Given the description of an element on the screen output the (x, y) to click on. 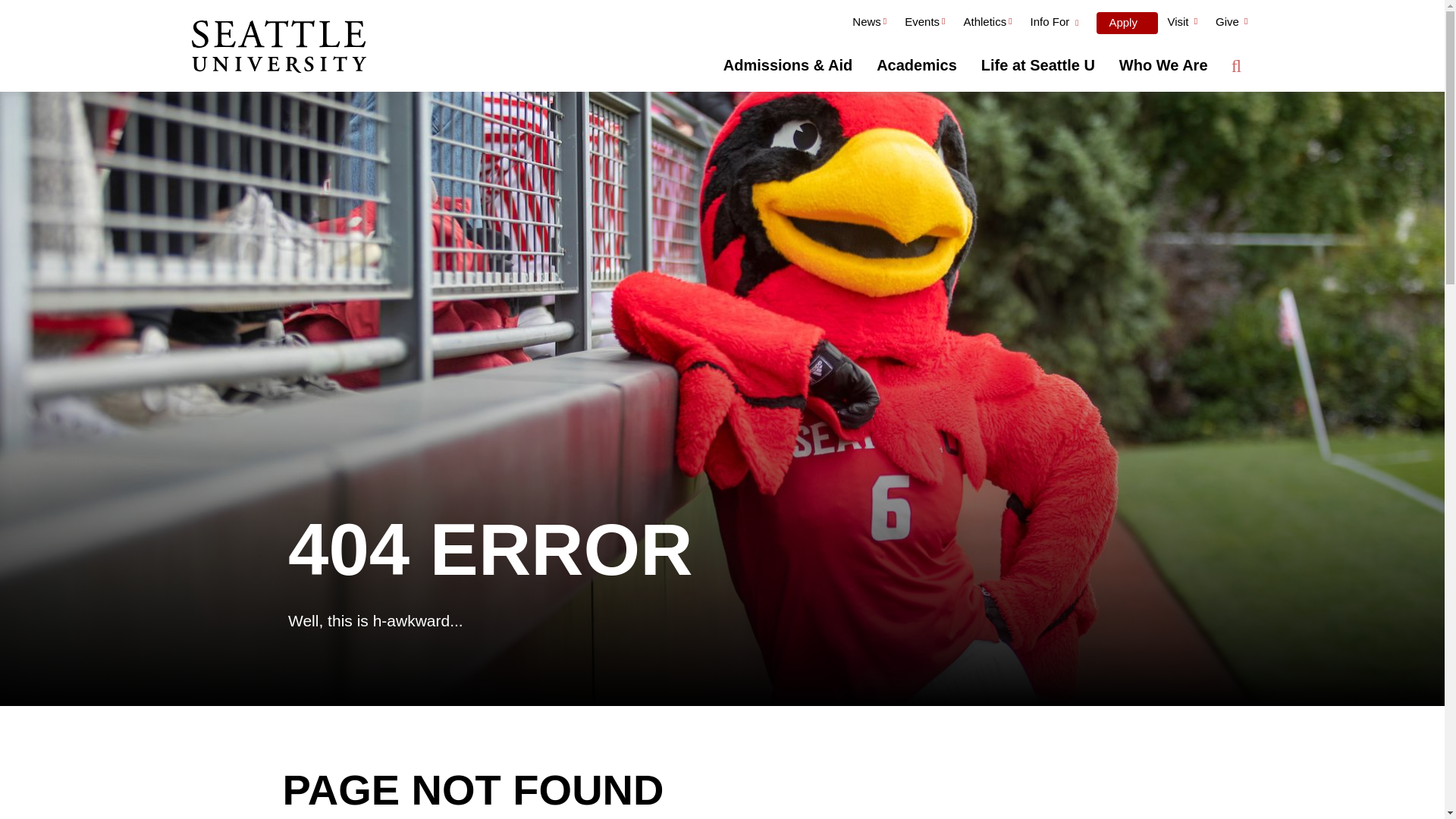
Academics (916, 65)
Apply (1126, 23)
Athletics (986, 23)
Events (924, 23)
Give (1231, 23)
Click to visit the home page (277, 47)
News (869, 23)
Life at Seattle U (1037, 65)
Visit (1182, 23)
